Given the description of an element on the screen output the (x, y) to click on. 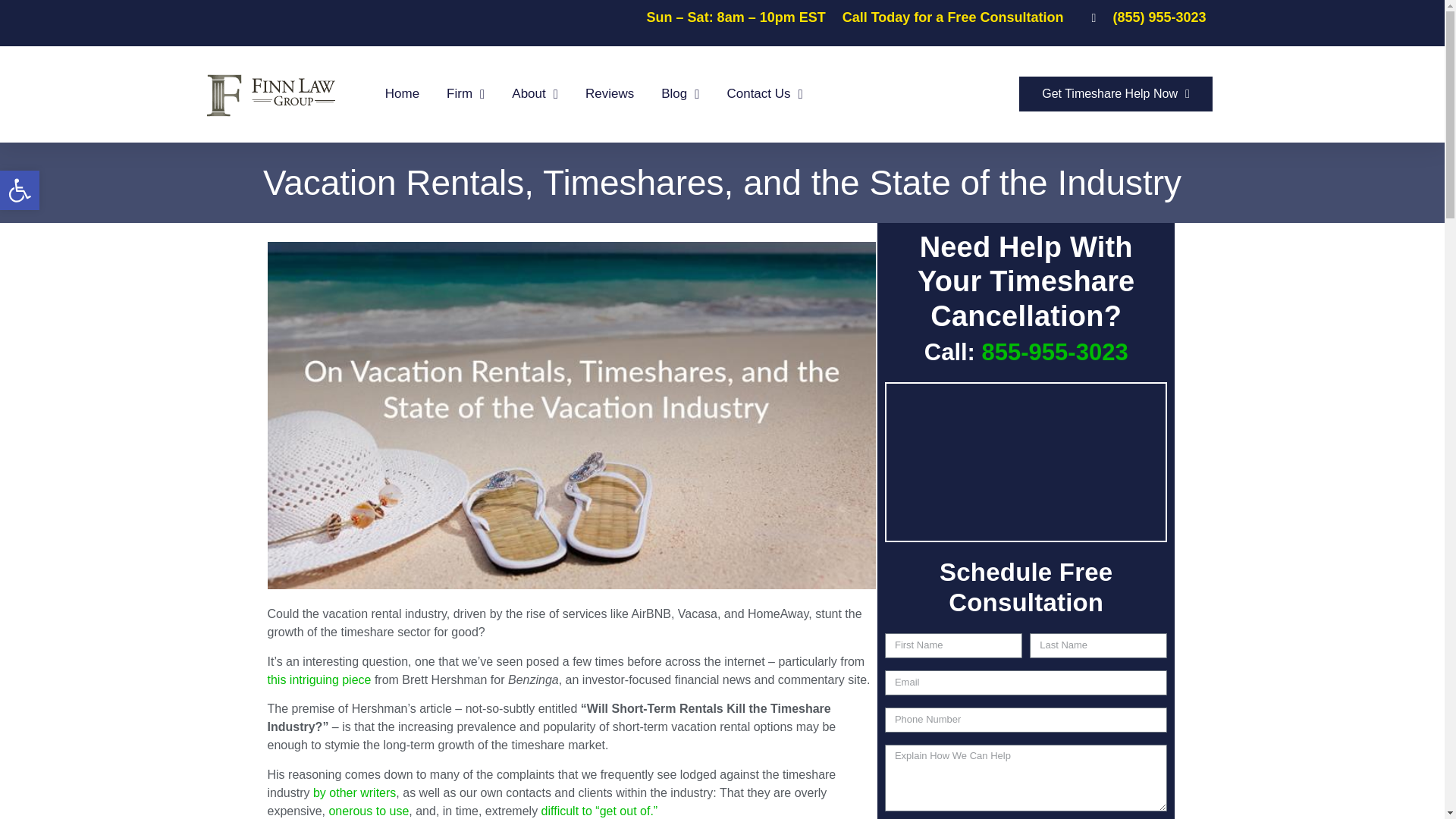
Contact Us (764, 93)
Accessibility Tools (19, 189)
Home (19, 189)
Accessibility Tools (402, 93)
Blog (19, 190)
Firm (679, 93)
Reviews (465, 93)
Call Today for a Free Consultation (609, 93)
About (953, 17)
